Given the description of an element on the screen output the (x, y) to click on. 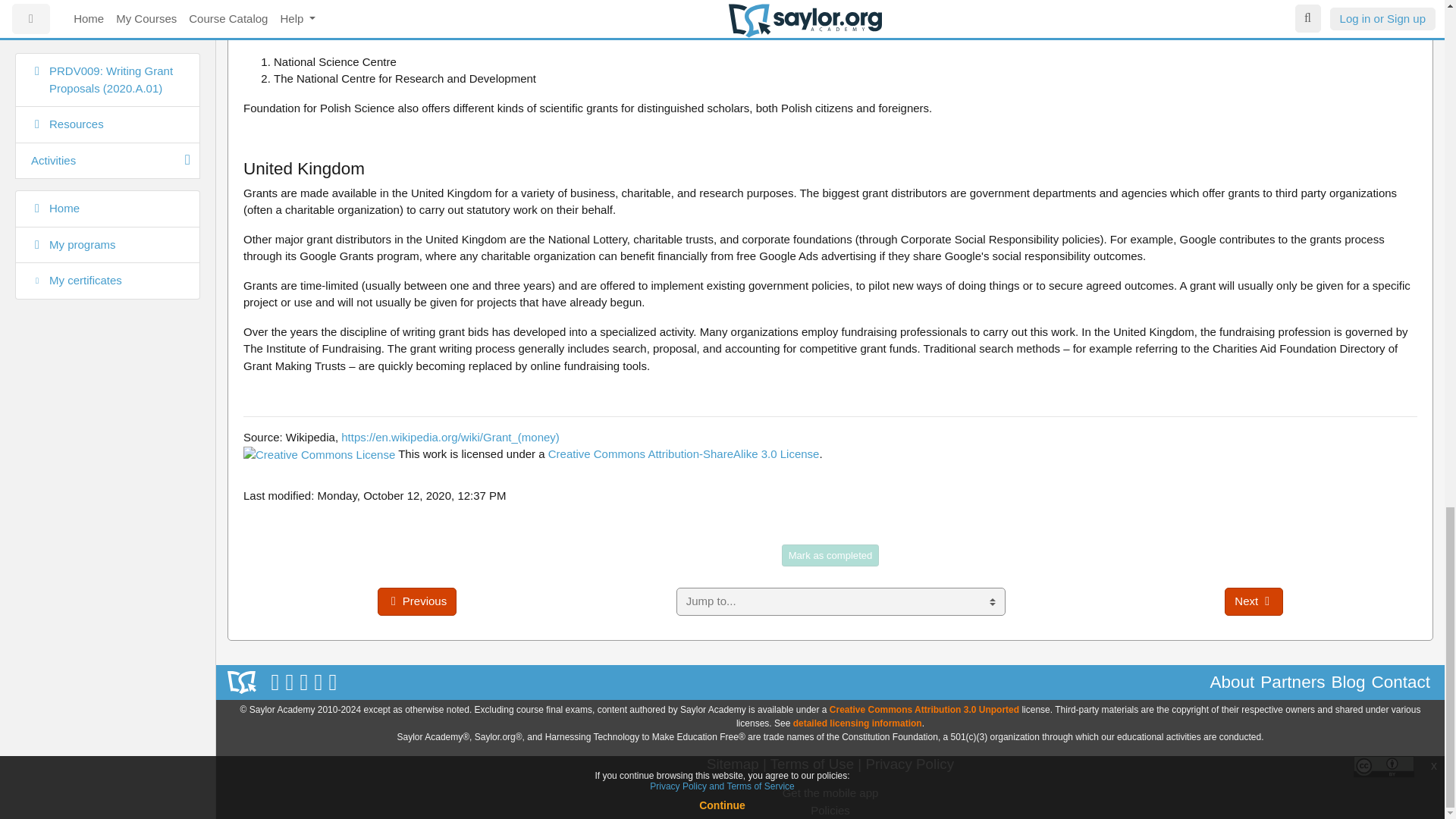
Creative Commons Attribution-ShareAlike 3.0 License (683, 453)
Previous (417, 601)
Mark as completed (830, 555)
Saylor Academy (241, 681)
